Given the description of an element on the screen output the (x, y) to click on. 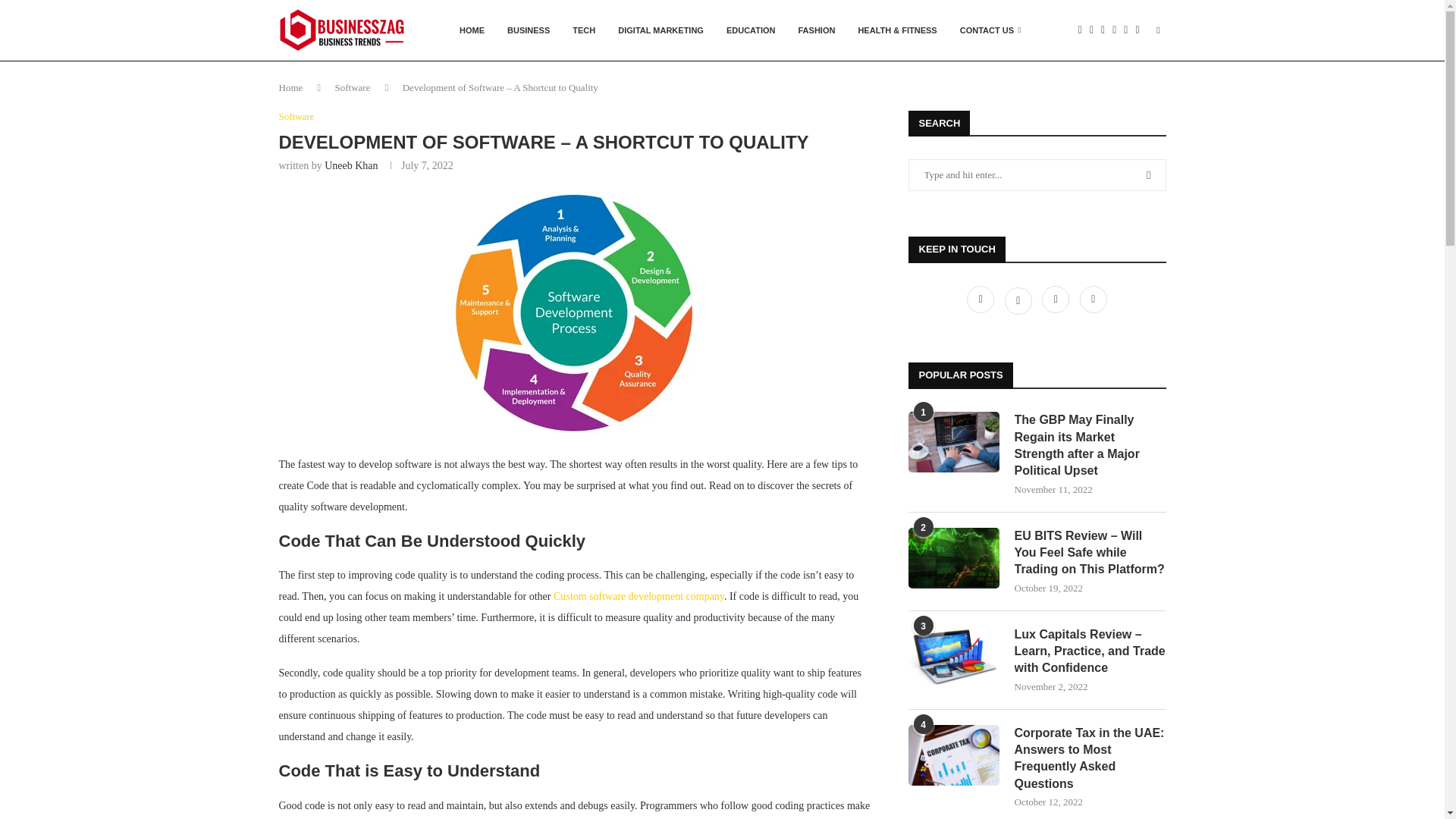
Software (296, 116)
BUSINESS (528, 30)
Uneeb Khan (350, 165)
EDUCATION (750, 30)
Custom software development company (638, 595)
Software (352, 87)
DIGITAL MARKETING (660, 30)
CONTACT US (990, 30)
FASHION (817, 30)
Home (290, 87)
